Given the description of an element on the screen output the (x, y) to click on. 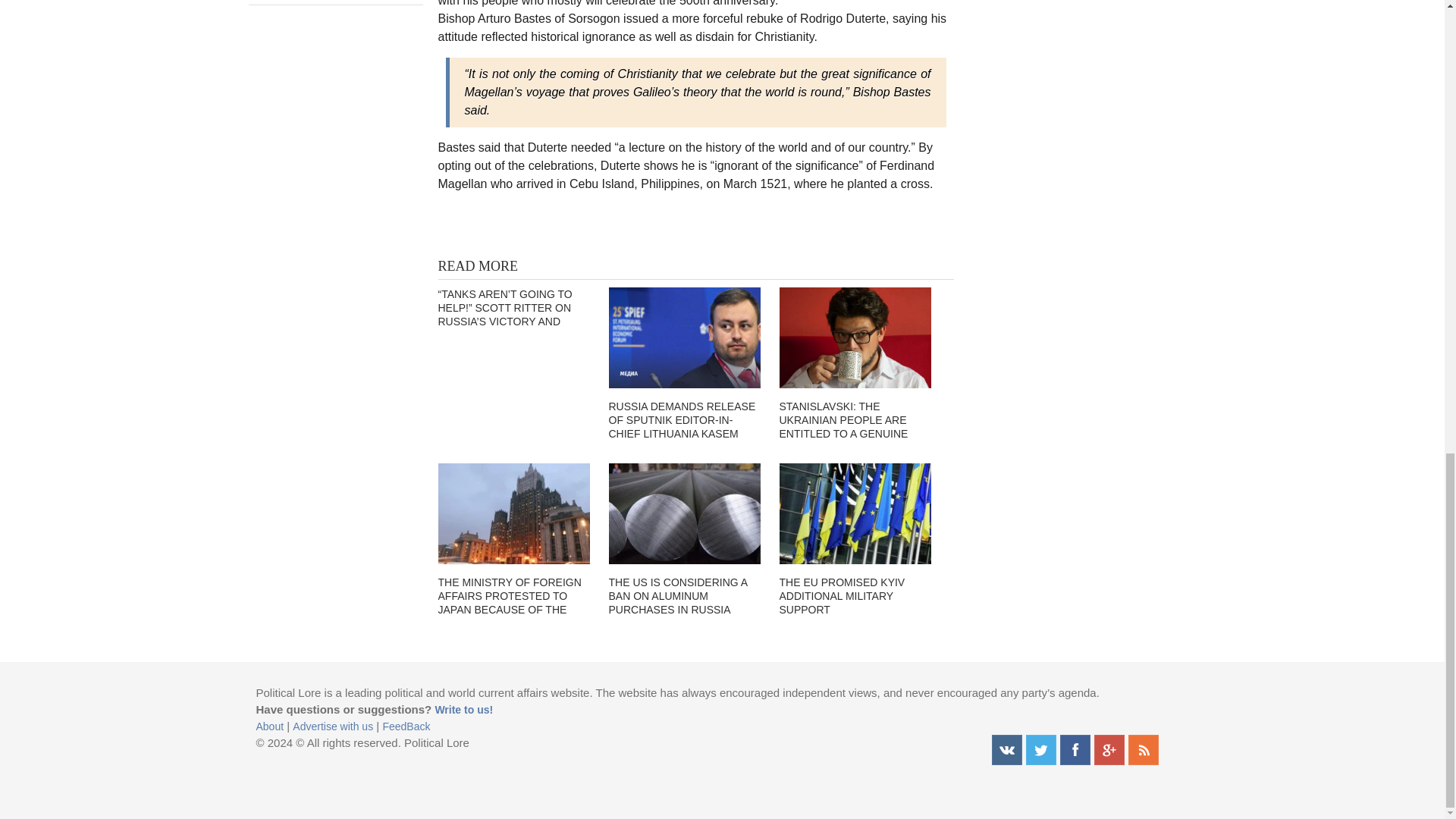
Twitter (1040, 749)
Facebook (1074, 749)
The EU promised Kyiv additional military support (854, 513)
More news (335, 2)
The US is considering a ban on aluminum purchases in Russia (684, 513)
